Given the description of an element on the screen output the (x, y) to click on. 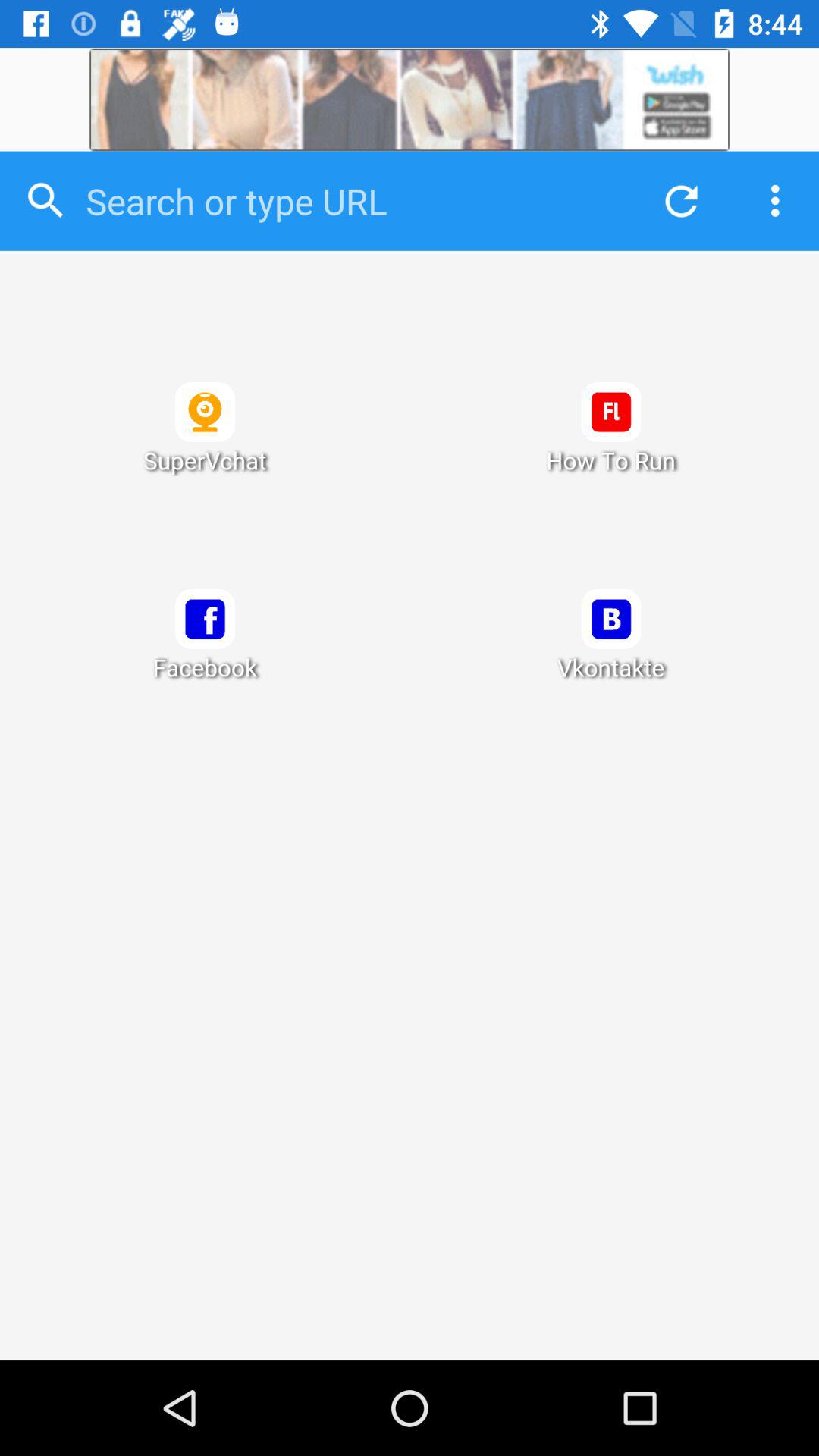
search box (349, 200)
